Given the description of an element on the screen output the (x, y) to click on. 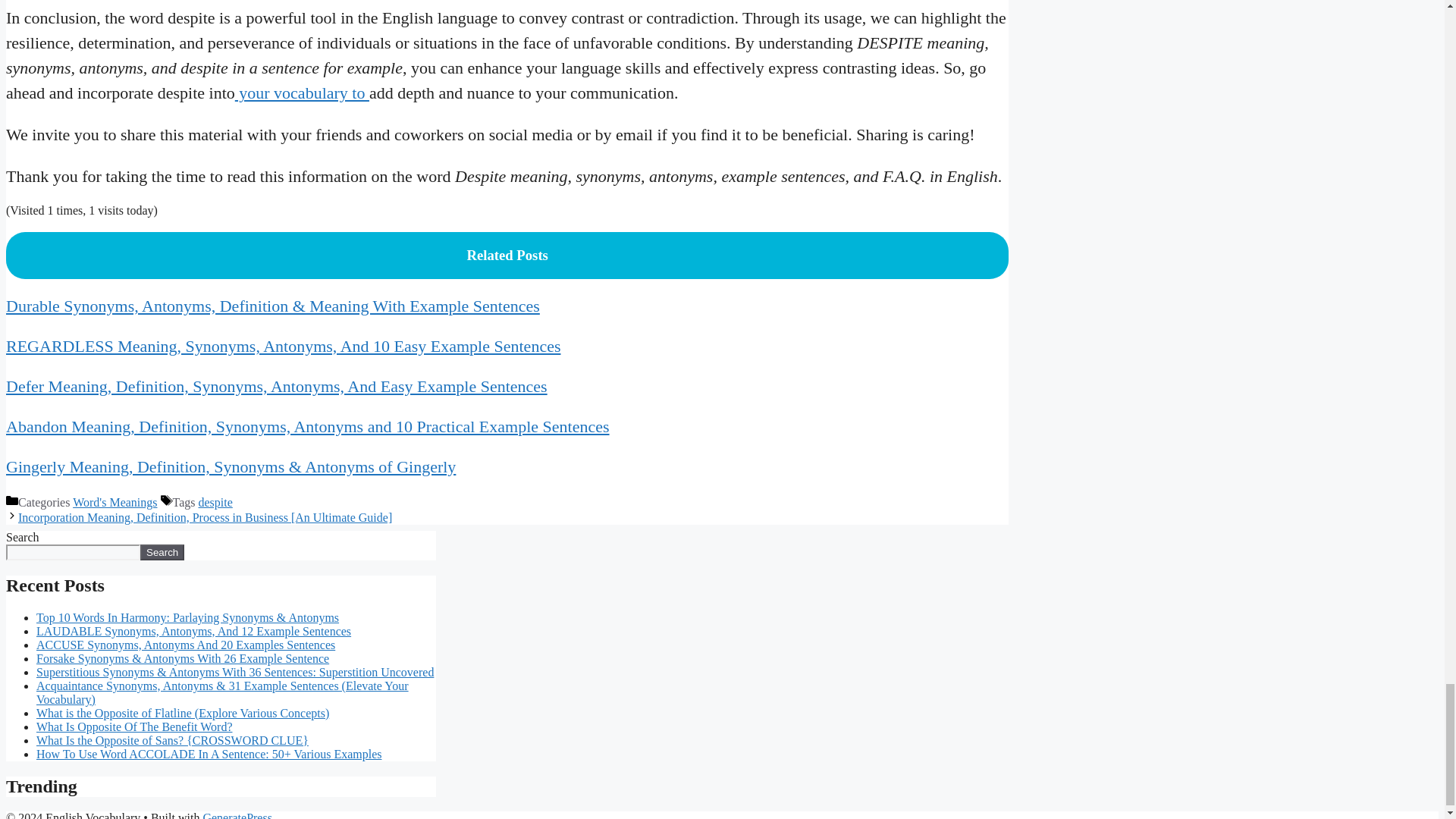
despite (214, 502)
your vocabulary to (301, 92)
Word's Meanings (114, 502)
